Given the description of an element on the screen output the (x, y) to click on. 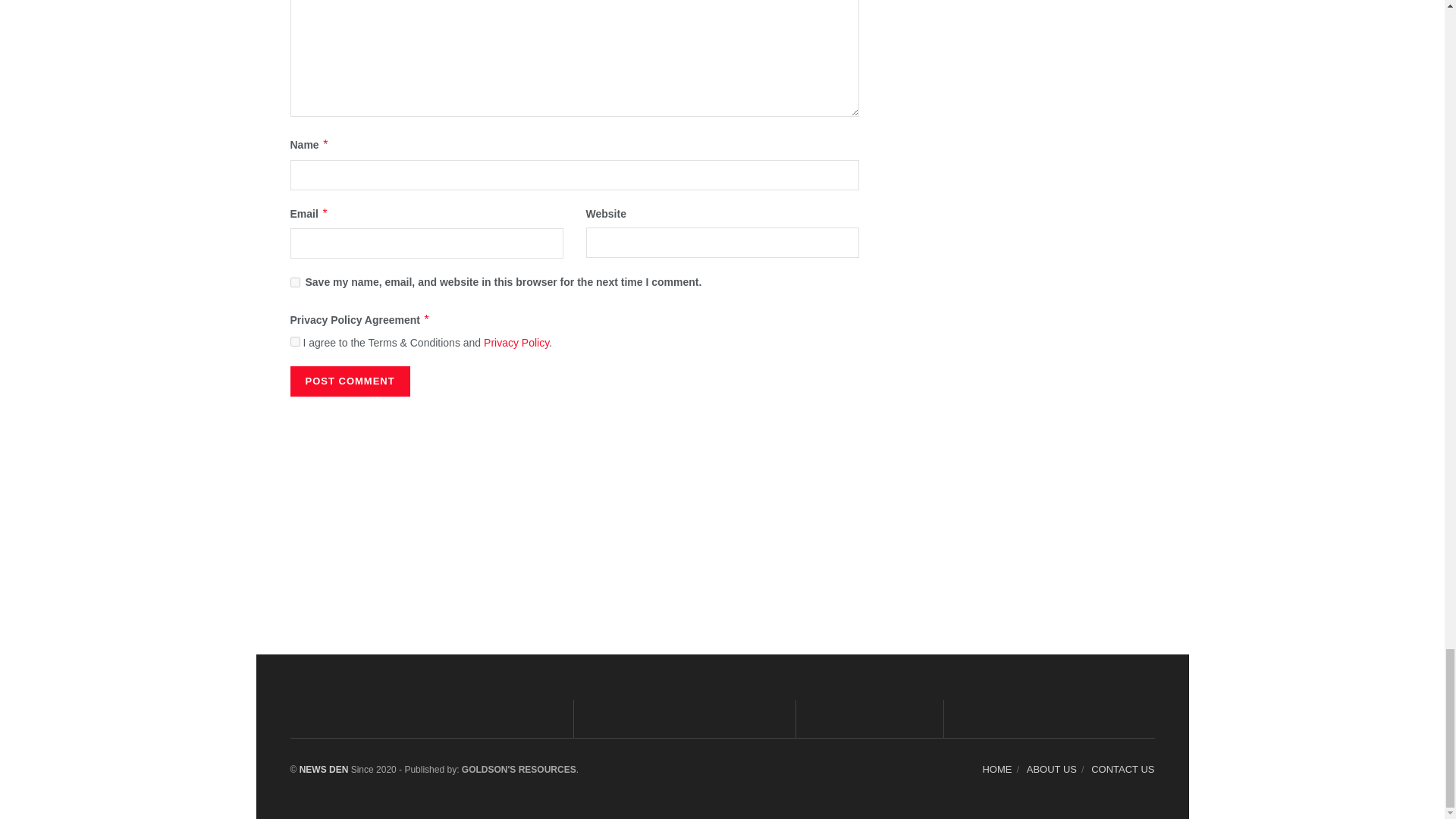
Post Comment (349, 381)
on (294, 341)
yes (294, 282)
